Given the description of an element on the screen output the (x, y) to click on. 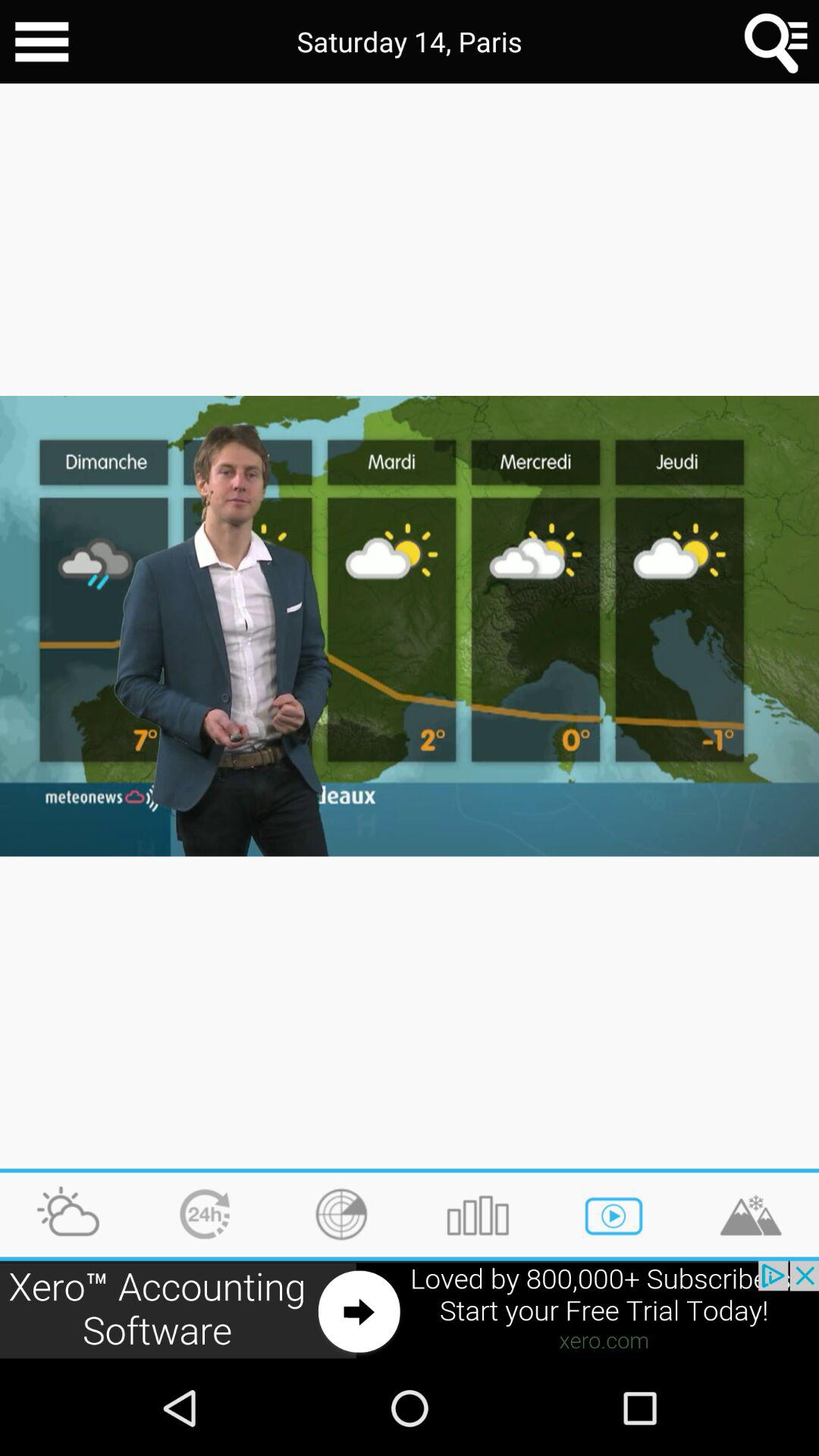
share the articles (41, 41)
